Given the description of an element on the screen output the (x, y) to click on. 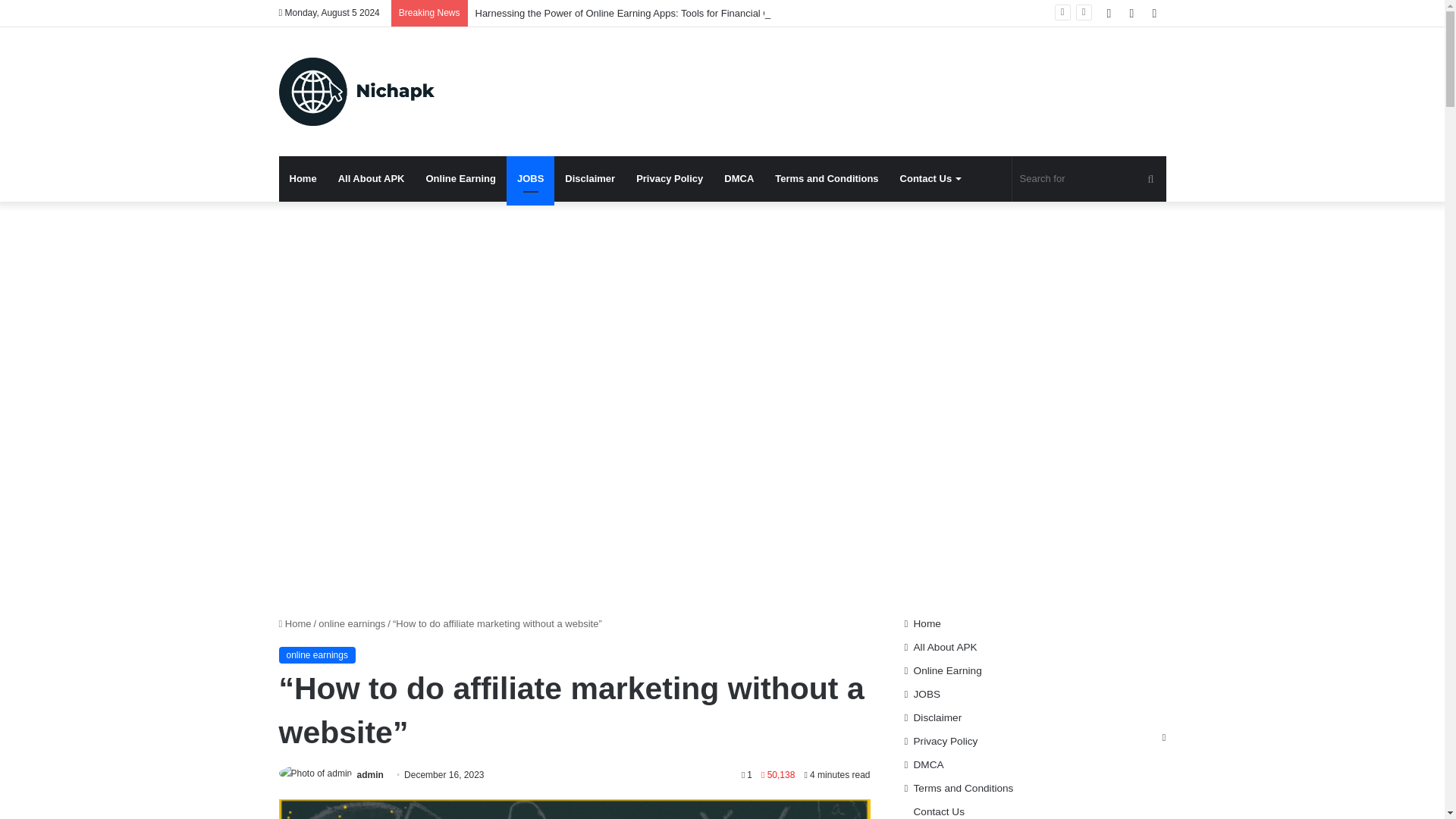
JOBS (530, 178)
Search for (1088, 178)
Nich APK (357, 91)
online earnings (351, 623)
Privacy Policy (669, 178)
Disclaimer (590, 178)
Online Earning (459, 178)
Home (295, 623)
admin (370, 774)
online earnings (317, 655)
Home (303, 178)
Contact Us (930, 178)
All About APK (370, 178)
admin (370, 774)
Terms and Conditions (826, 178)
